Given the description of an element on the screen output the (x, y) to click on. 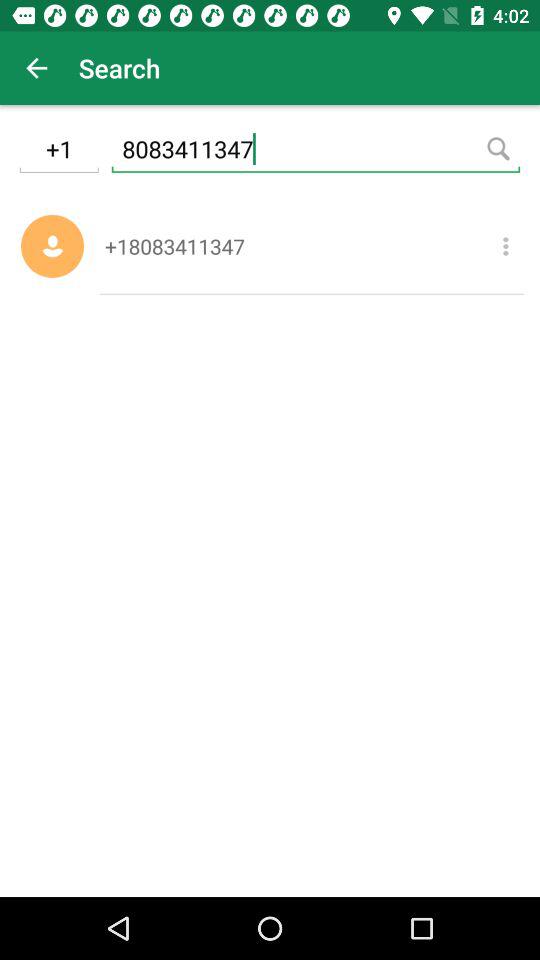
jump to +1 item (58, 151)
